Given the description of an element on the screen output the (x, y) to click on. 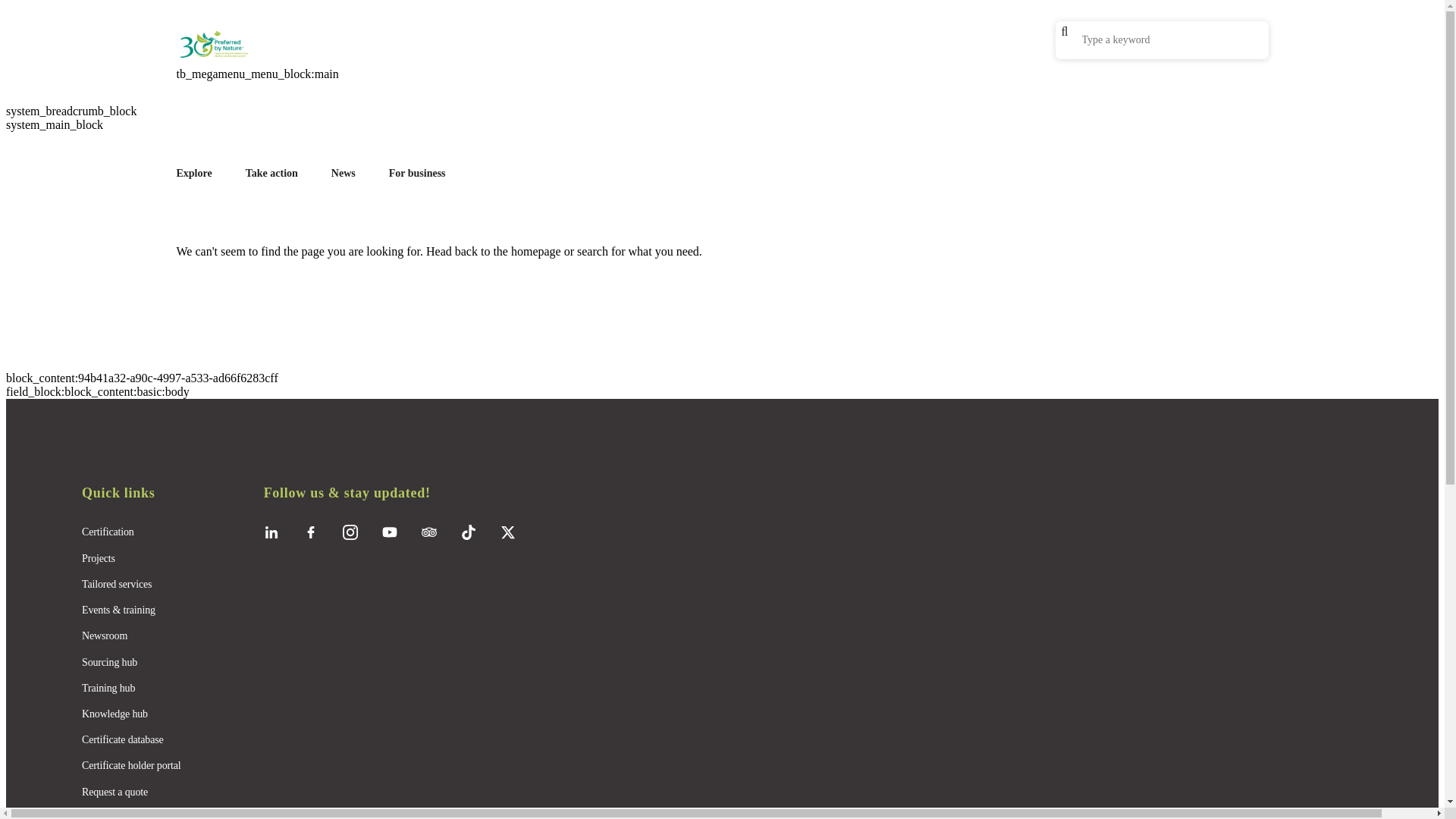
Home (221, 56)
For Business (416, 173)
Search (1064, 31)
